Given the description of an element on the screen output the (x, y) to click on. 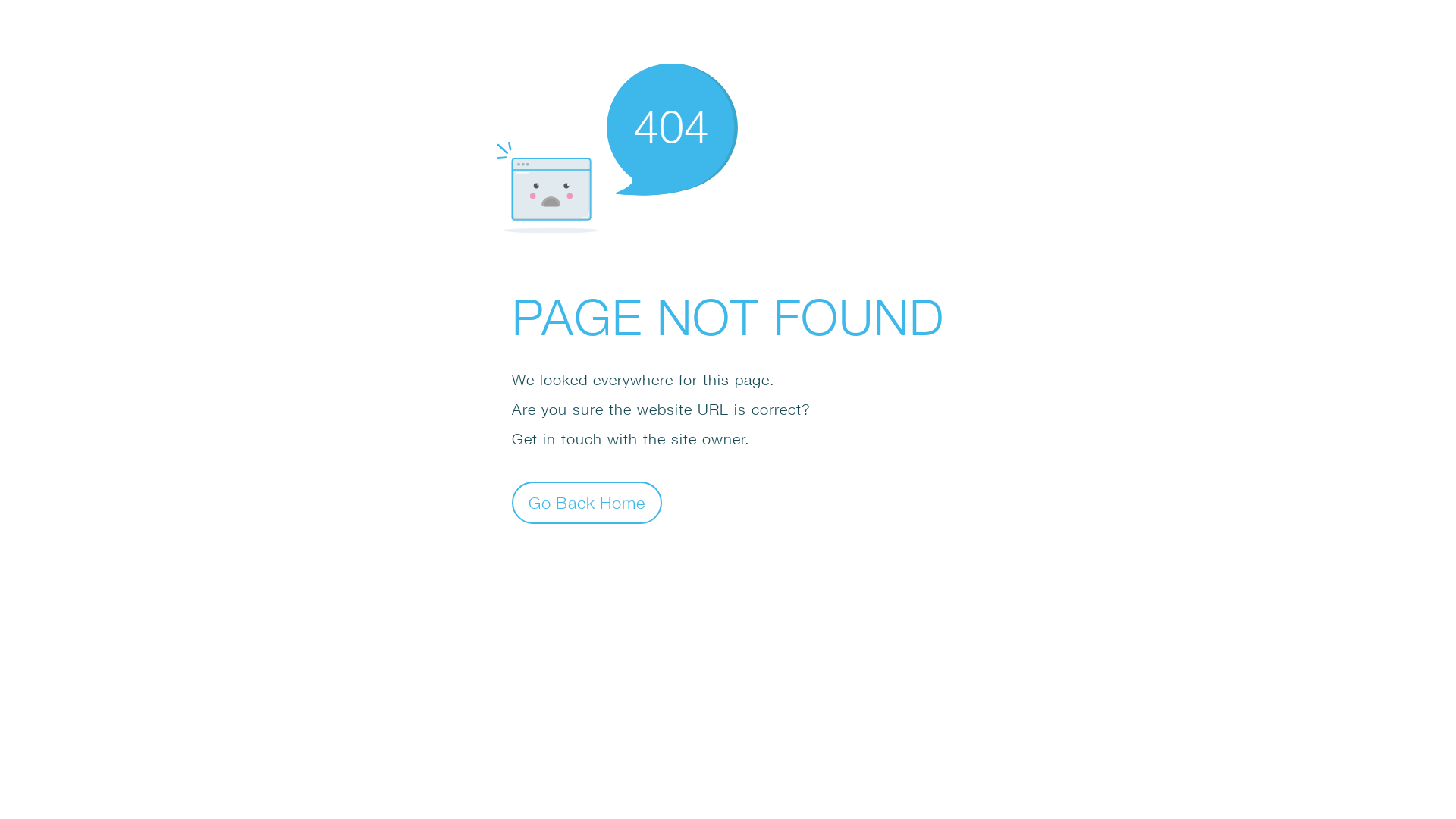
Go Back Home Element type: text (586, 502)
